Given the description of an element on the screen output the (x, y) to click on. 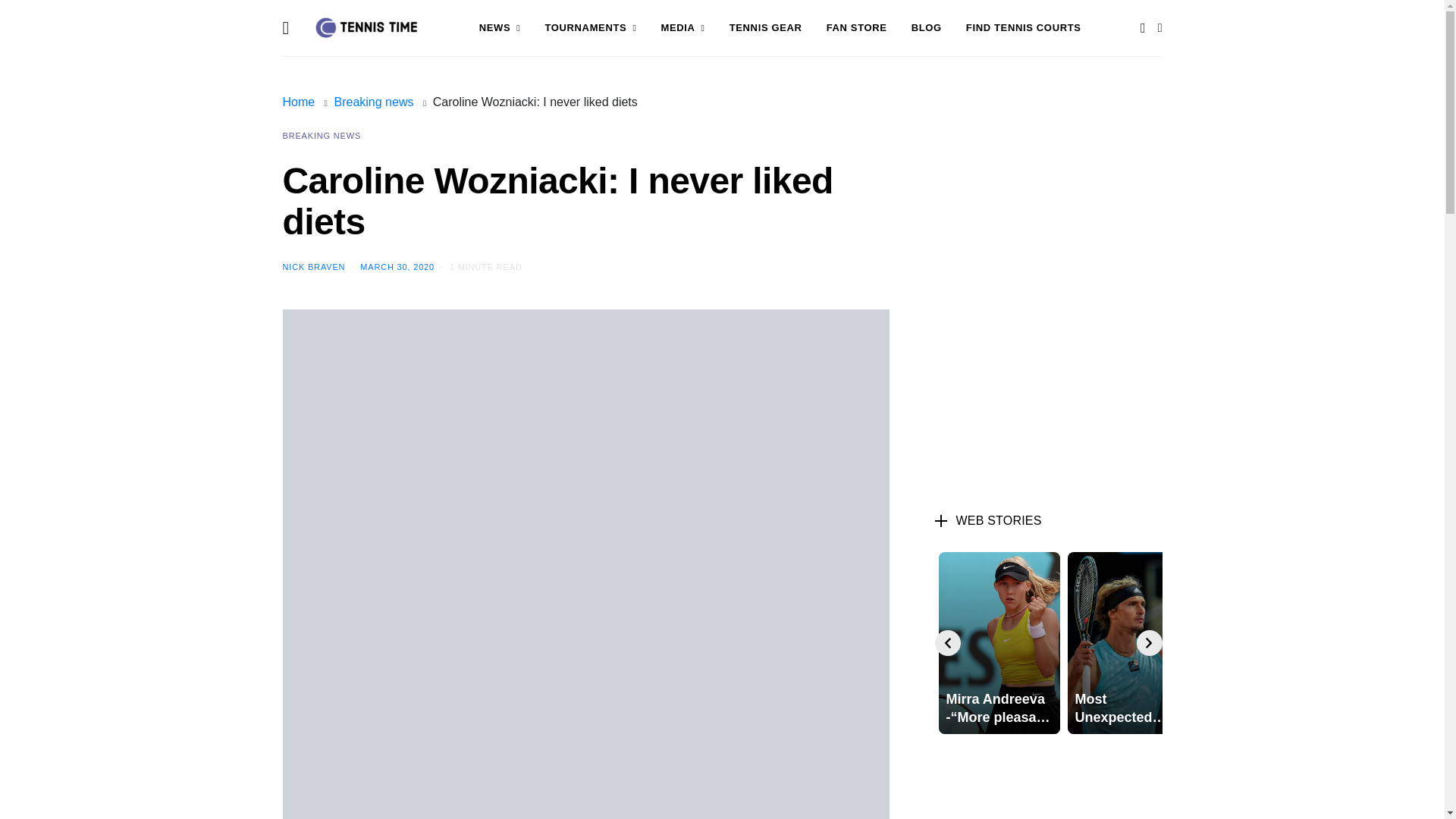
TOURNAMENTS (590, 28)
View all posts by Nick Braven (313, 266)
